Given the description of an element on the screen output the (x, y) to click on. 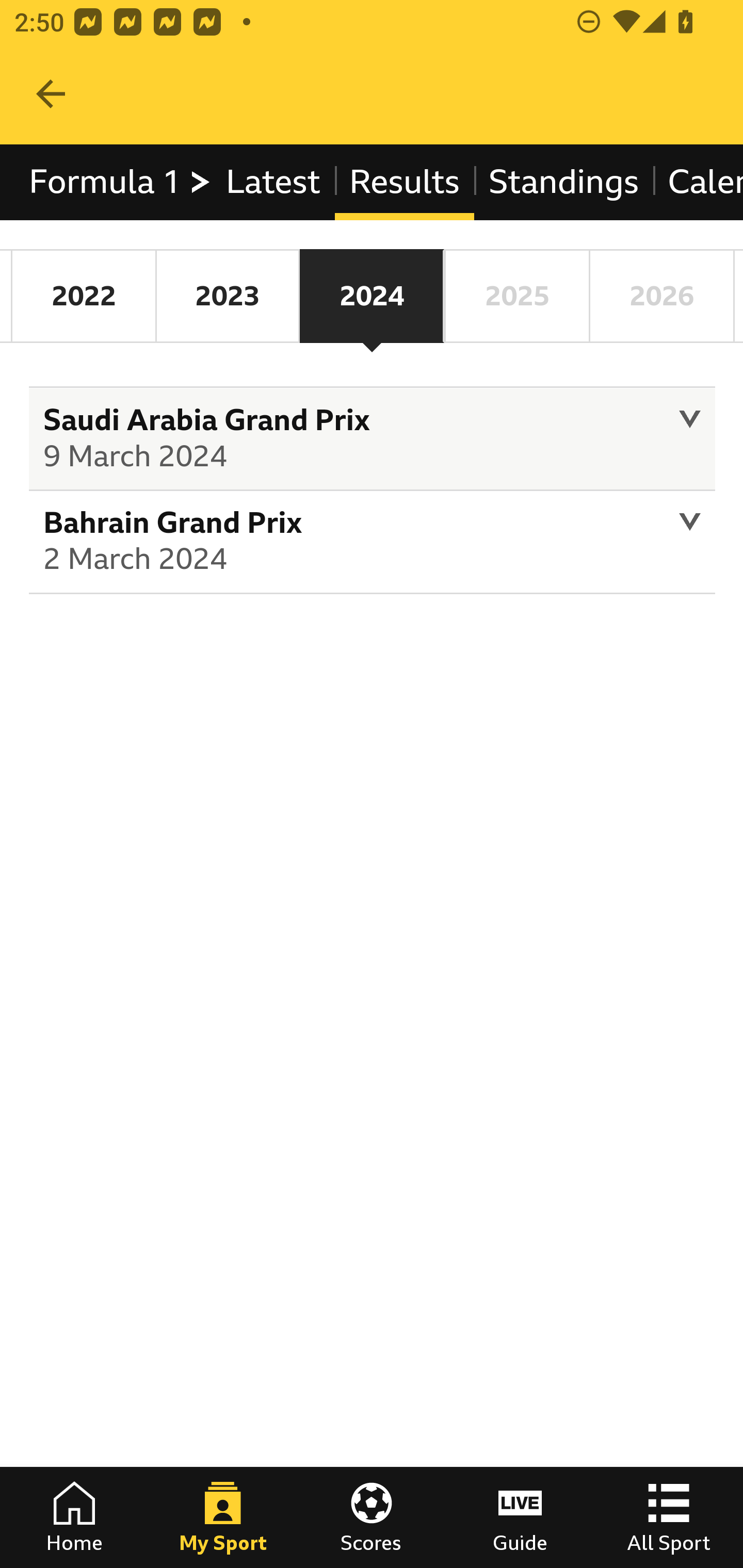
Navigate up (50, 93)
Formula 1  (120, 181)
Latest (272, 181)
Results (403, 181)
Standings (564, 181)
Calendar (697, 181)
2022 (83, 296)
2023 (227, 296)
2024, Selected (371, 296)
Bahrain Grand Prix, Bahrain IC 2 March 2024 (372, 542)
Home (74, 1517)
Scores (371, 1517)
Guide (519, 1517)
All Sport (668, 1517)
